Given the description of an element on the screen output the (x, y) to click on. 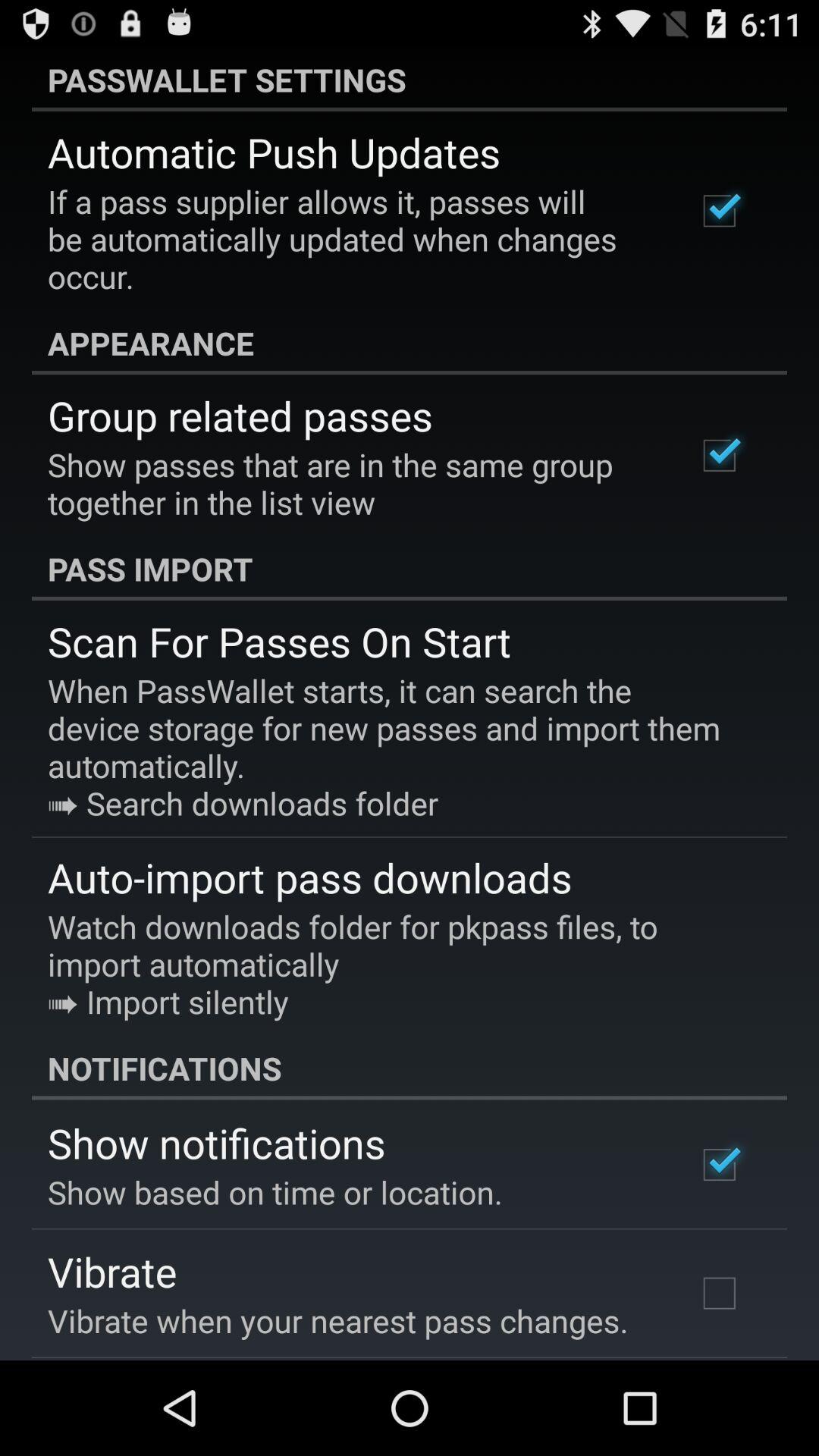
jump until if a pass item (351, 238)
